Given the description of an element on the screen output the (x, y) to click on. 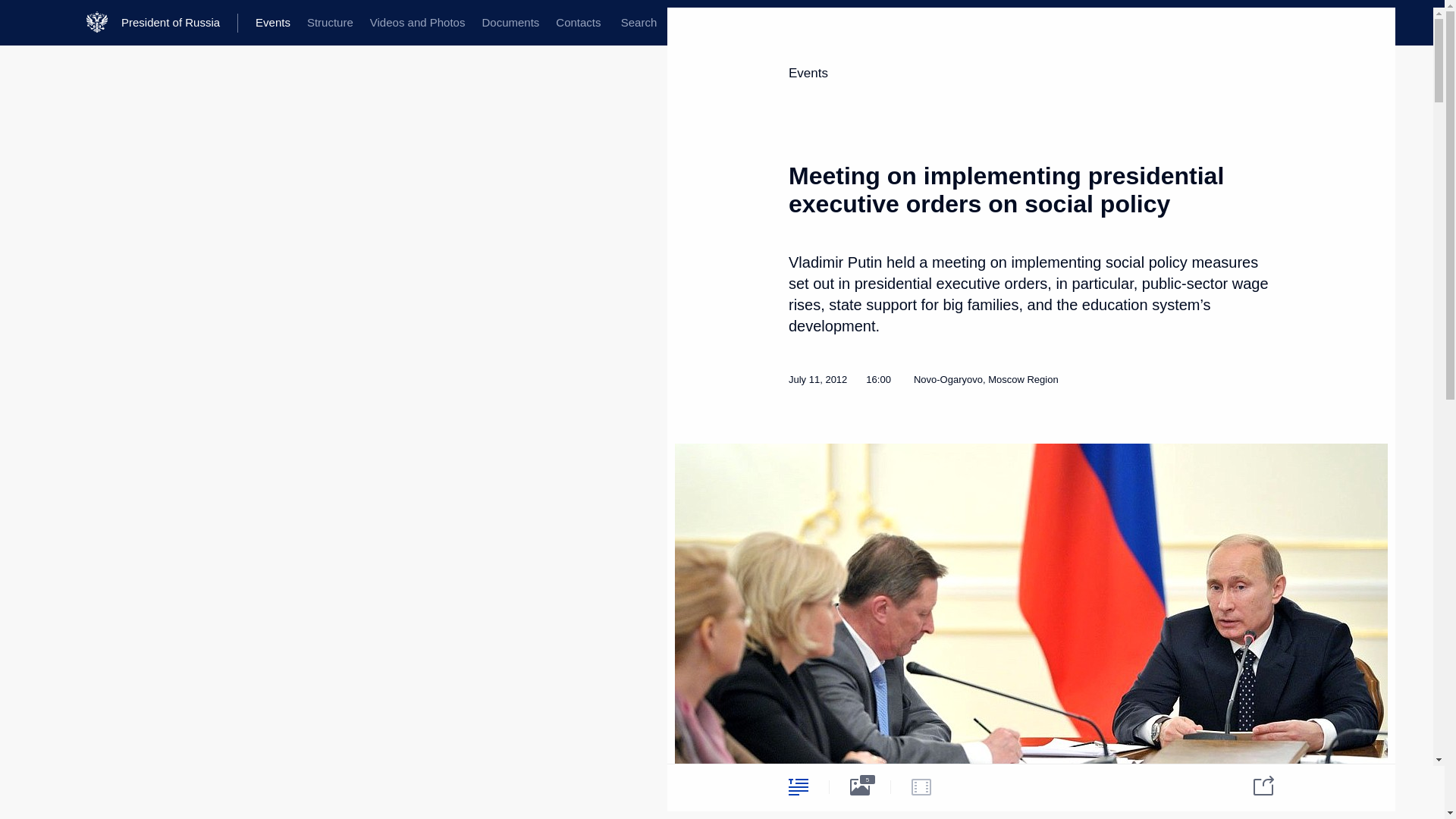
Events (272, 22)
Search (638, 22)
Photo (859, 786)
Contacts (577, 22)
Global website search (638, 22)
Structure (329, 22)
President of Russia (179, 22)
Documents (510, 22)
Text (798, 786)
